Given the description of an element on the screen output the (x, y) to click on. 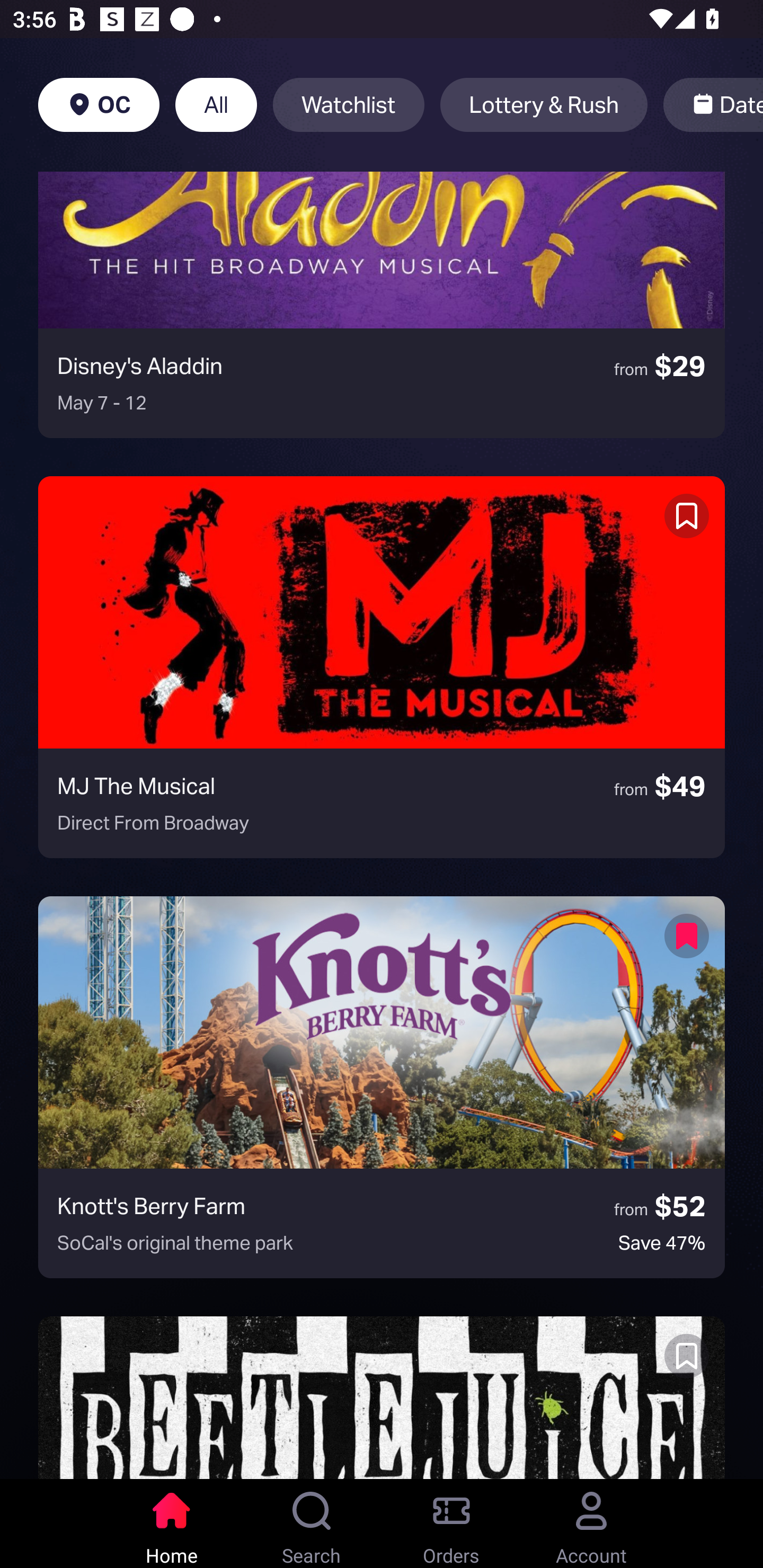
OC (98, 104)
All (216, 104)
Watchlist (348, 104)
Lottery & Rush (543, 104)
Disney's Aladdin from $29 May 7 - 12 (381, 303)
MJ The Musical from $49 Direct From Broadway (381, 666)
Search (311, 1523)
Orders (451, 1523)
Account (591, 1523)
